Given the description of an element on the screen output the (x, y) to click on. 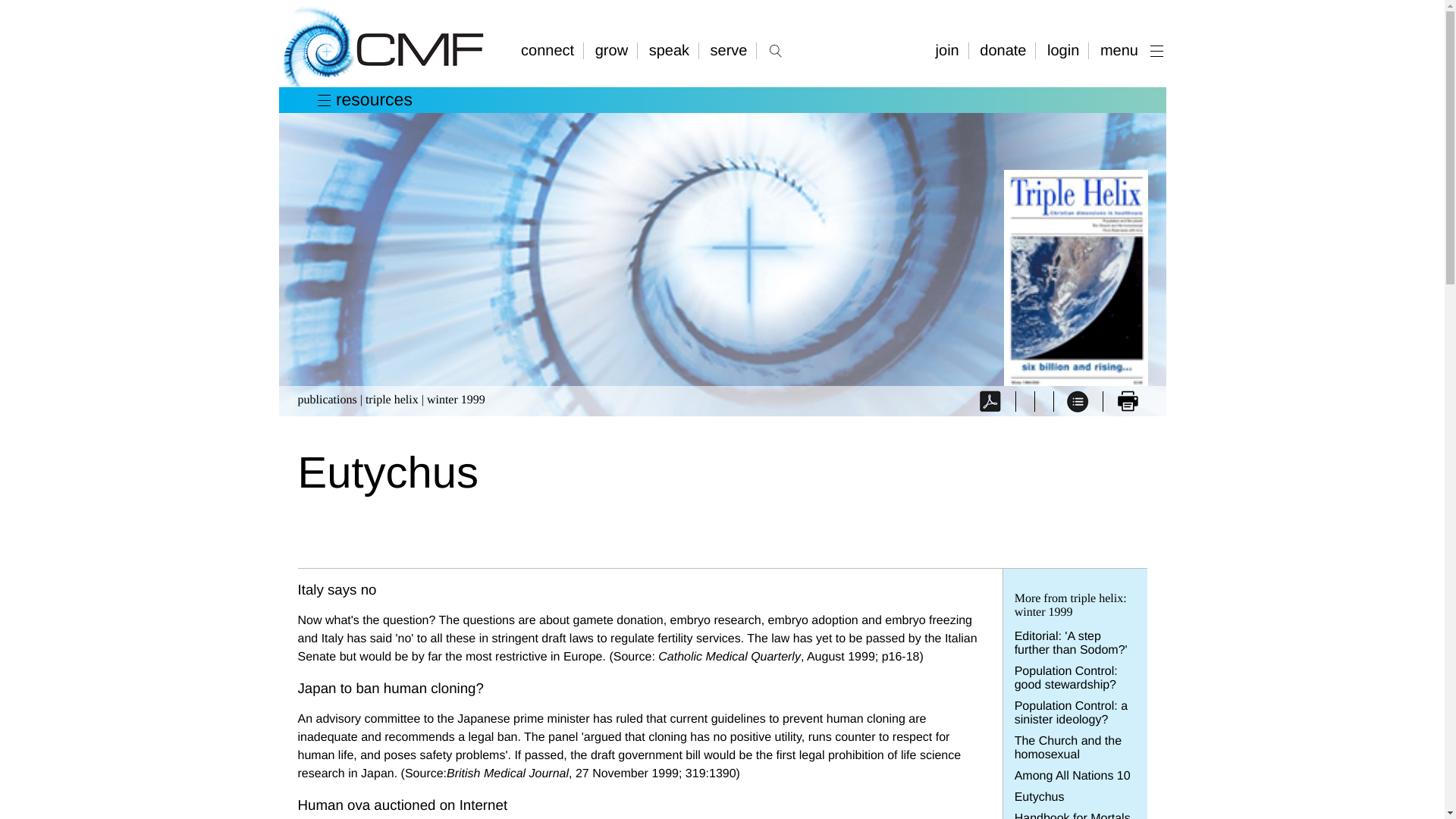
Back Issues (1077, 401)
grow (612, 50)
connect (552, 50)
join (948, 50)
speak (670, 50)
login (1065, 50)
serve (730, 50)
Print Article (1126, 401)
Download PDF Version (992, 401)
donate (1003, 50)
menu (1128, 50)
